Given the description of an element on the screen output the (x, y) to click on. 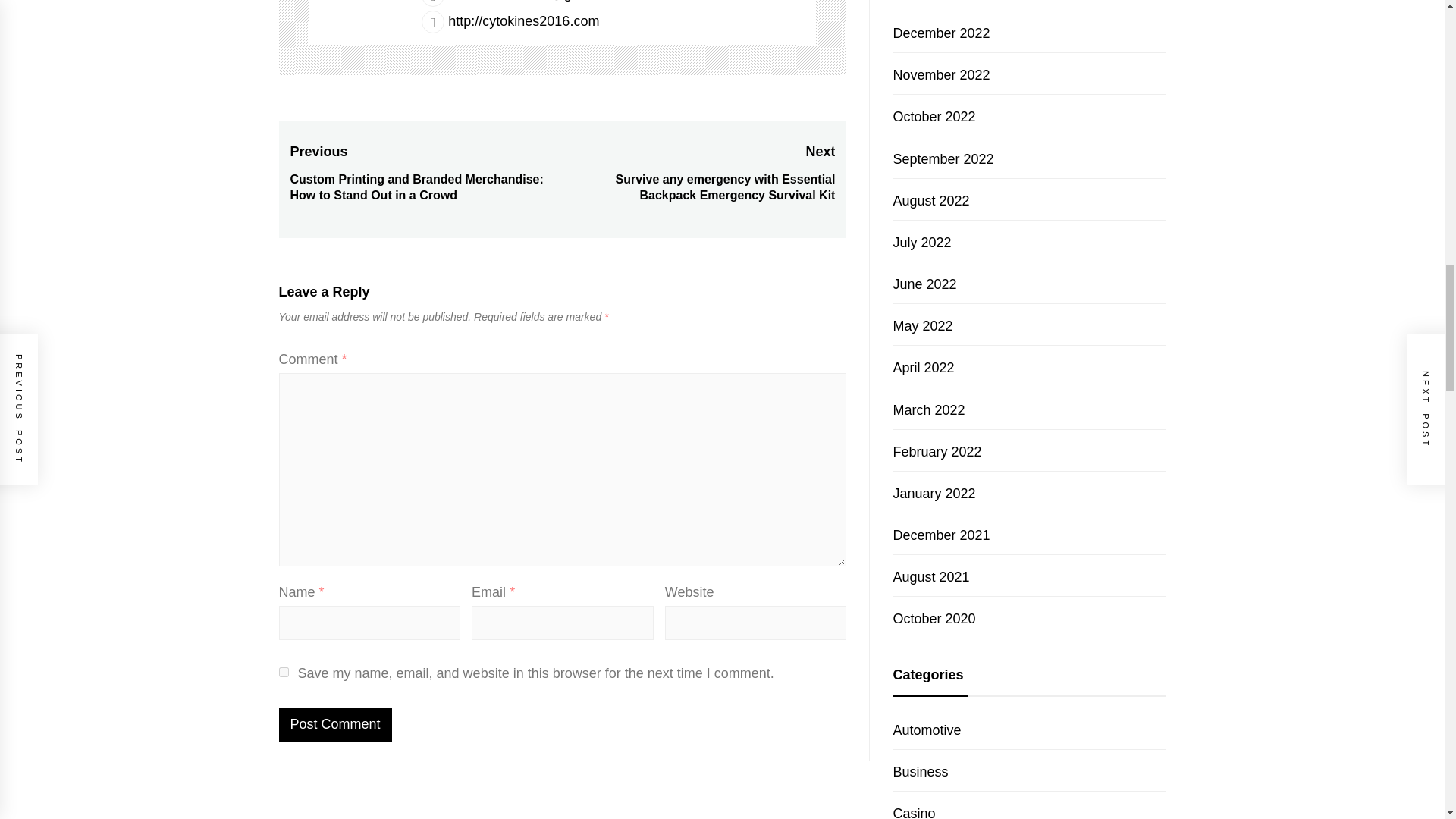
yes (283, 672)
Post Comment (335, 724)
Post Comment (335, 724)
